Given the description of an element on the screen output the (x, y) to click on. 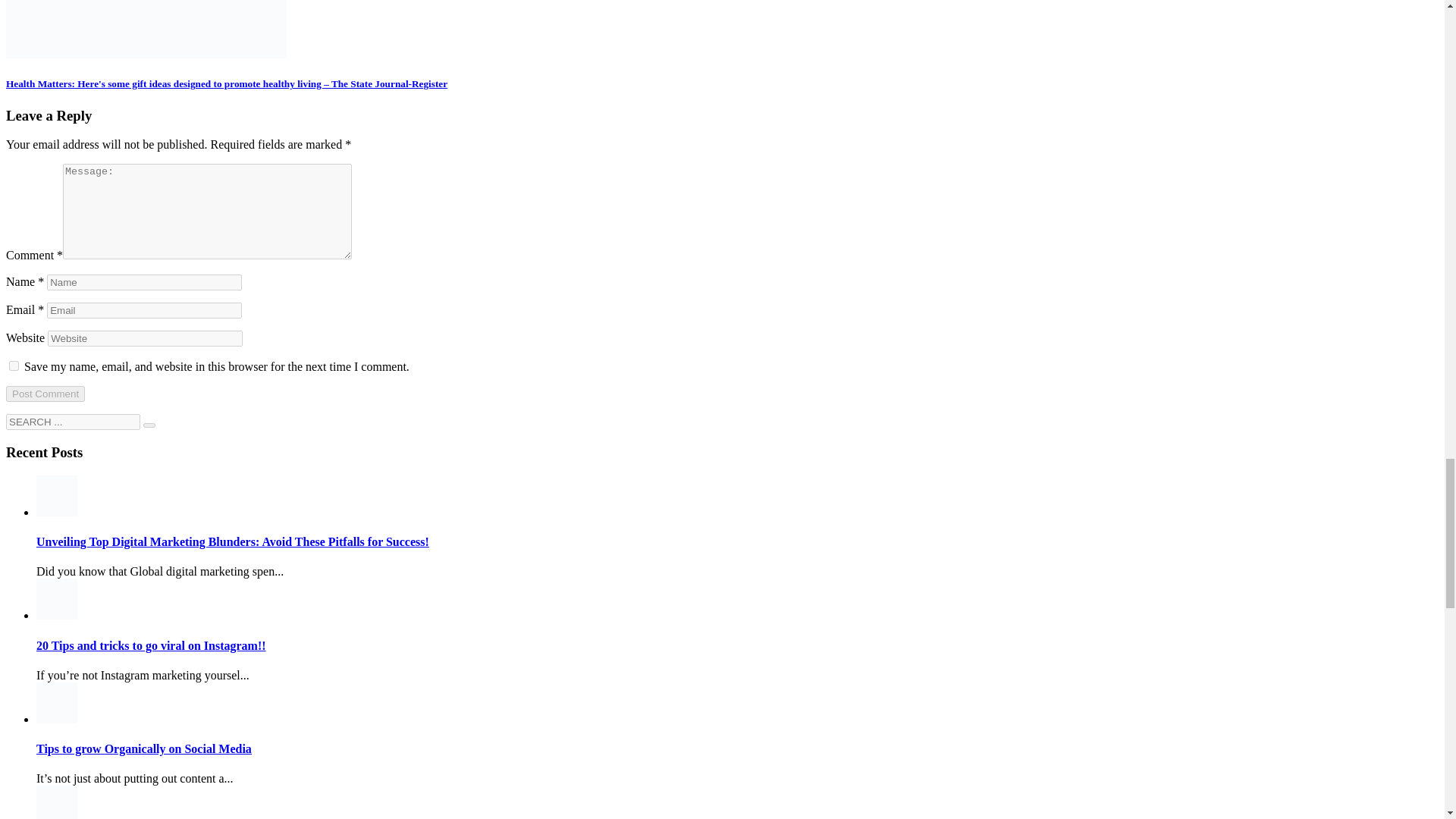
yes (13, 366)
Post Comment (44, 393)
